Given the description of an element on the screen output the (x, y) to click on. 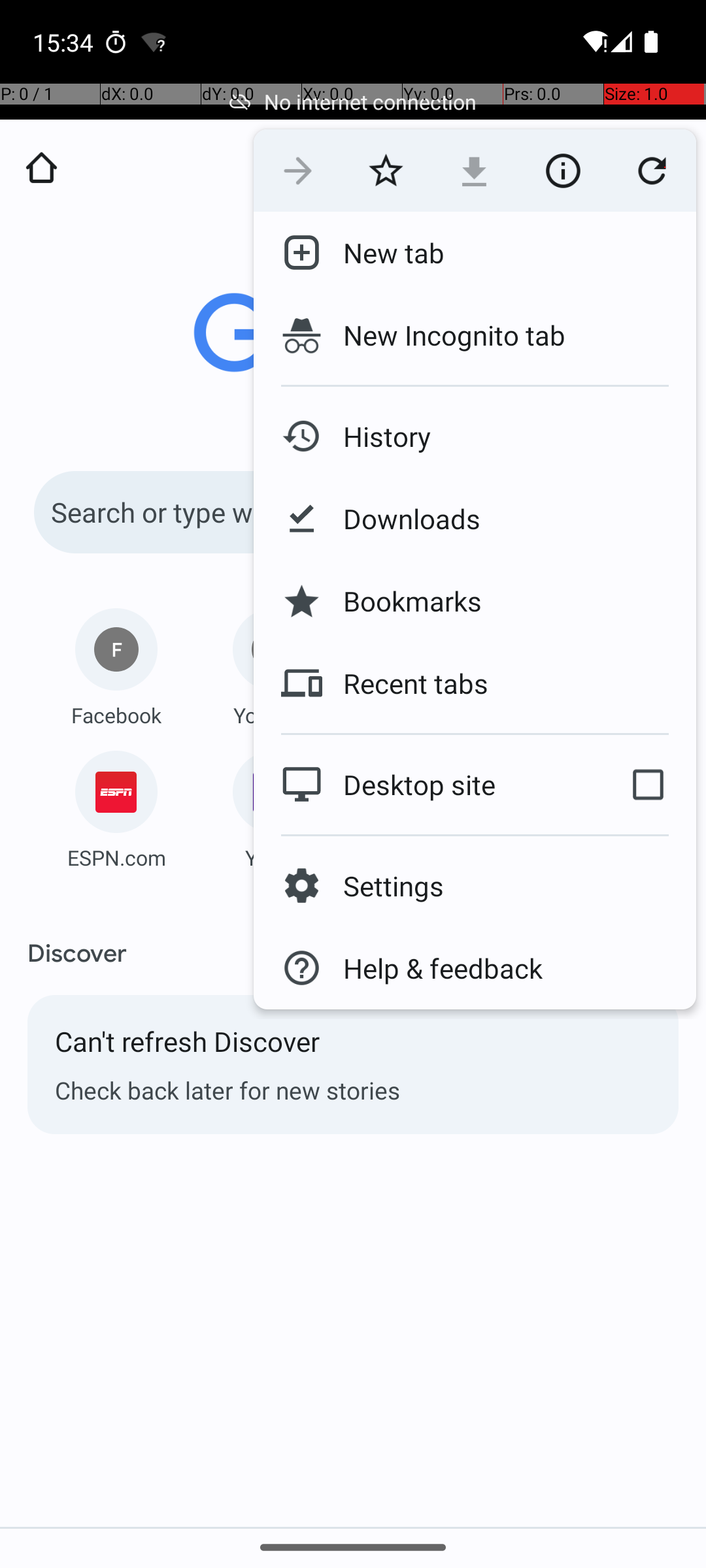
Forward Element type: android.widget.ImageButton (297, 170)
Bookmark Element type: android.widget.ImageButton (385, 170)
Page info Element type: android.widget.ImageButton (562, 170)
Bookmarks Element type: android.widget.TextView (401, 600)
Recent tabs Element type: android.widget.TextView (405, 683)
